Given the description of an element on the screen output the (x, y) to click on. 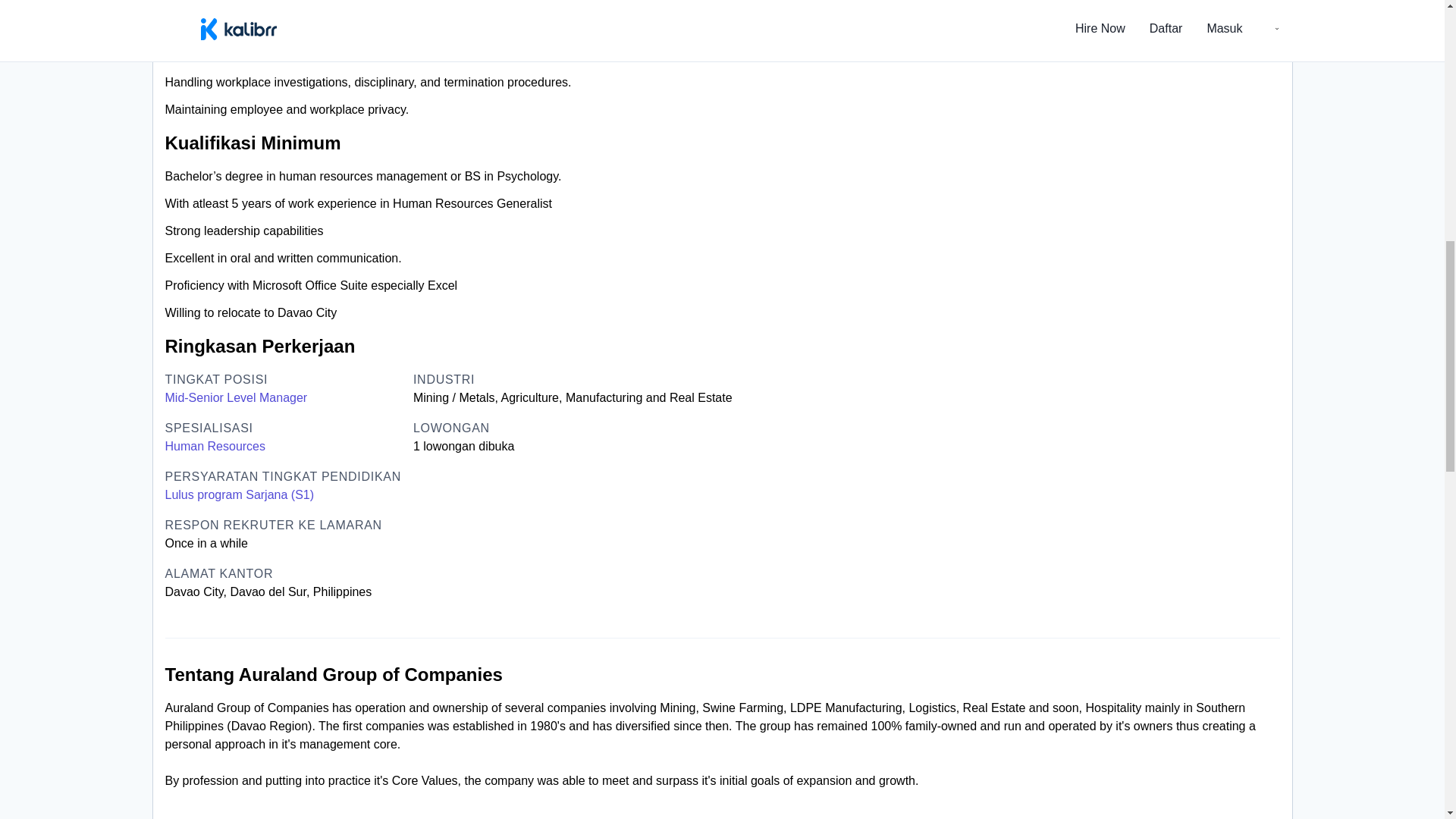
Human Resources (215, 446)
Laporkan lowongan pekerjaan ini (1136, 1)
Mid-Senior Level Manager (236, 398)
